Given the description of an element on the screen output the (x, y) to click on. 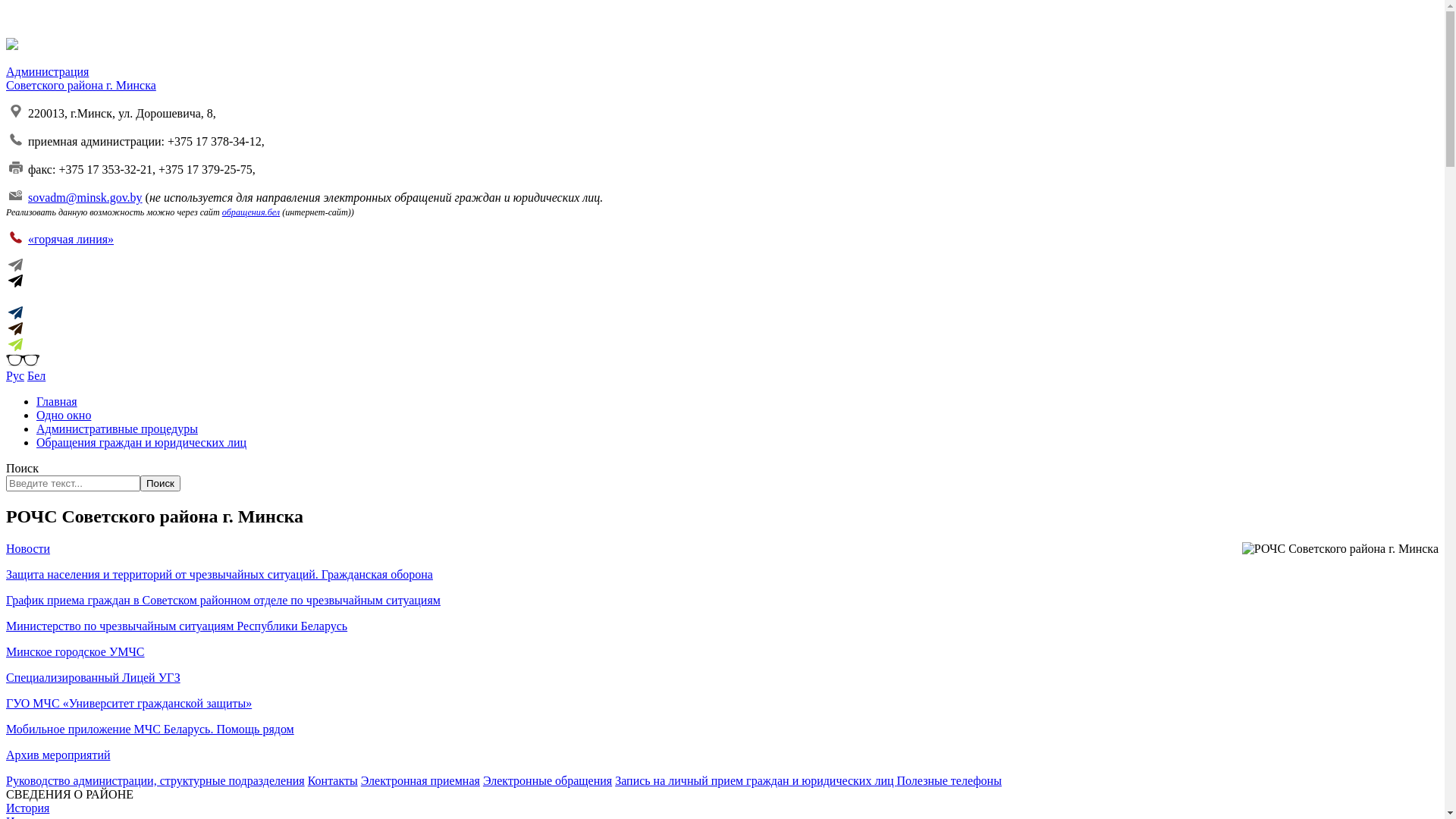
sovadm@minsk.gov.by Element type: text (85, 197)
